Given the description of an element on the screen output the (x, y) to click on. 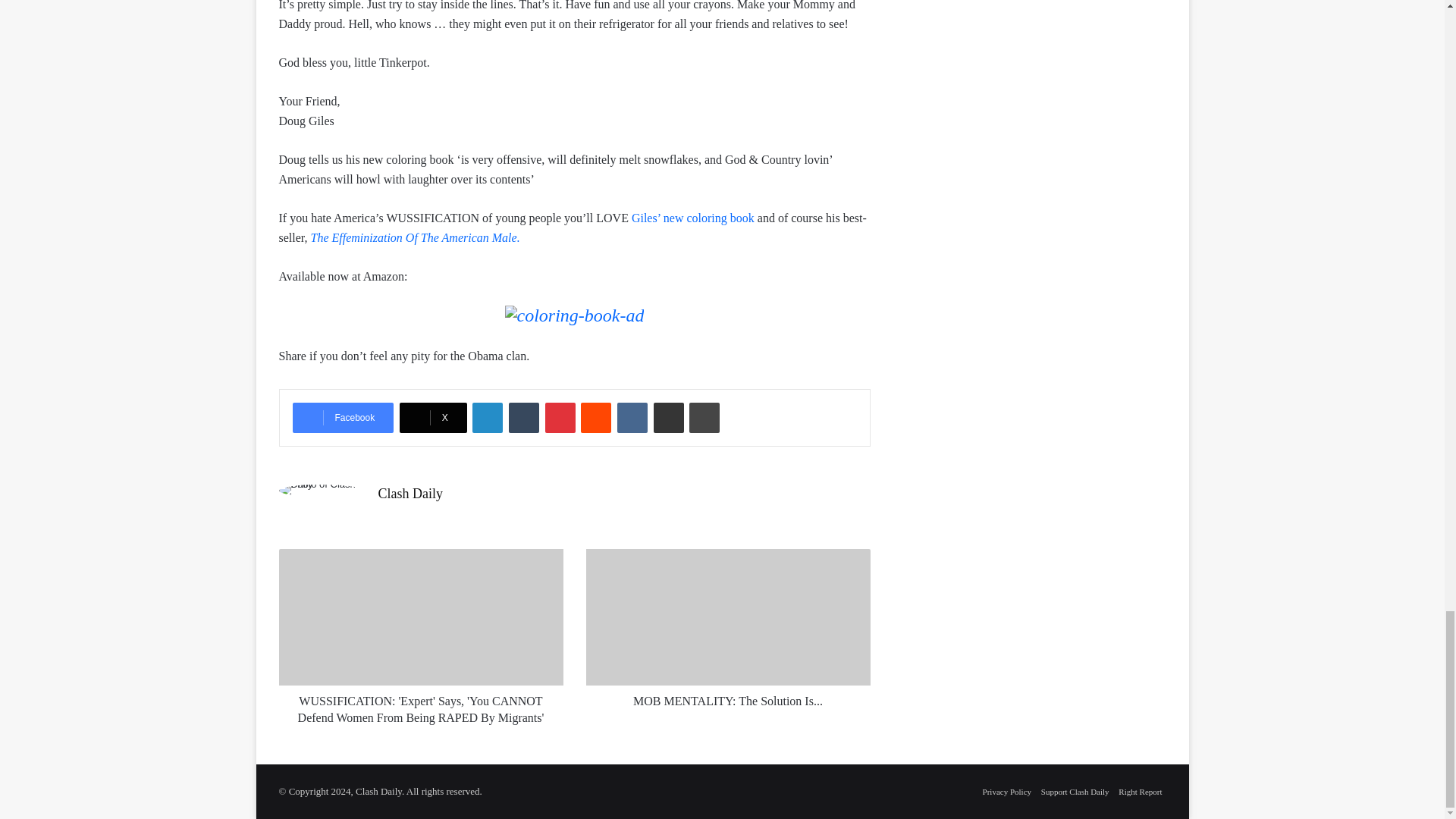
The Effeminization Of The American Male. (415, 237)
LinkedIn (486, 417)
X (432, 417)
VKontakte (632, 417)
Facebook (343, 417)
Print (703, 417)
Share via Email (668, 417)
Reddit (595, 417)
Tumblr (523, 417)
Pinterest (559, 417)
